Given the description of an element on the screen output the (x, y) to click on. 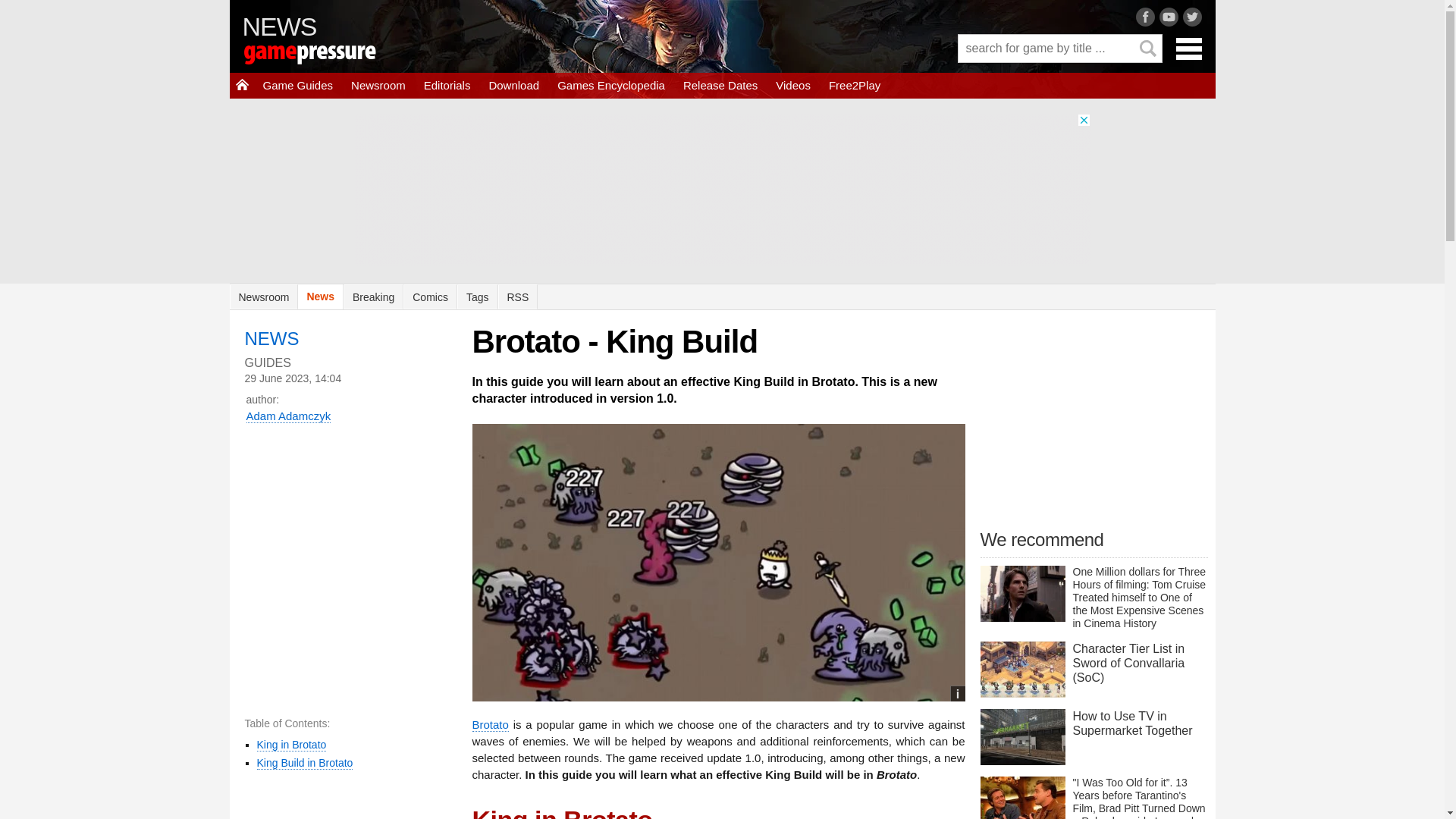
Release Dates (720, 85)
Tags (477, 296)
3rd party ad content (1093, 420)
Download (513, 85)
Videos (793, 85)
Breaking (373, 296)
King Build in Brotato (304, 762)
Newsroom (263, 296)
Newsroom (378, 85)
Free2Play (854, 85)
